Given the description of an element on the screen output the (x, y) to click on. 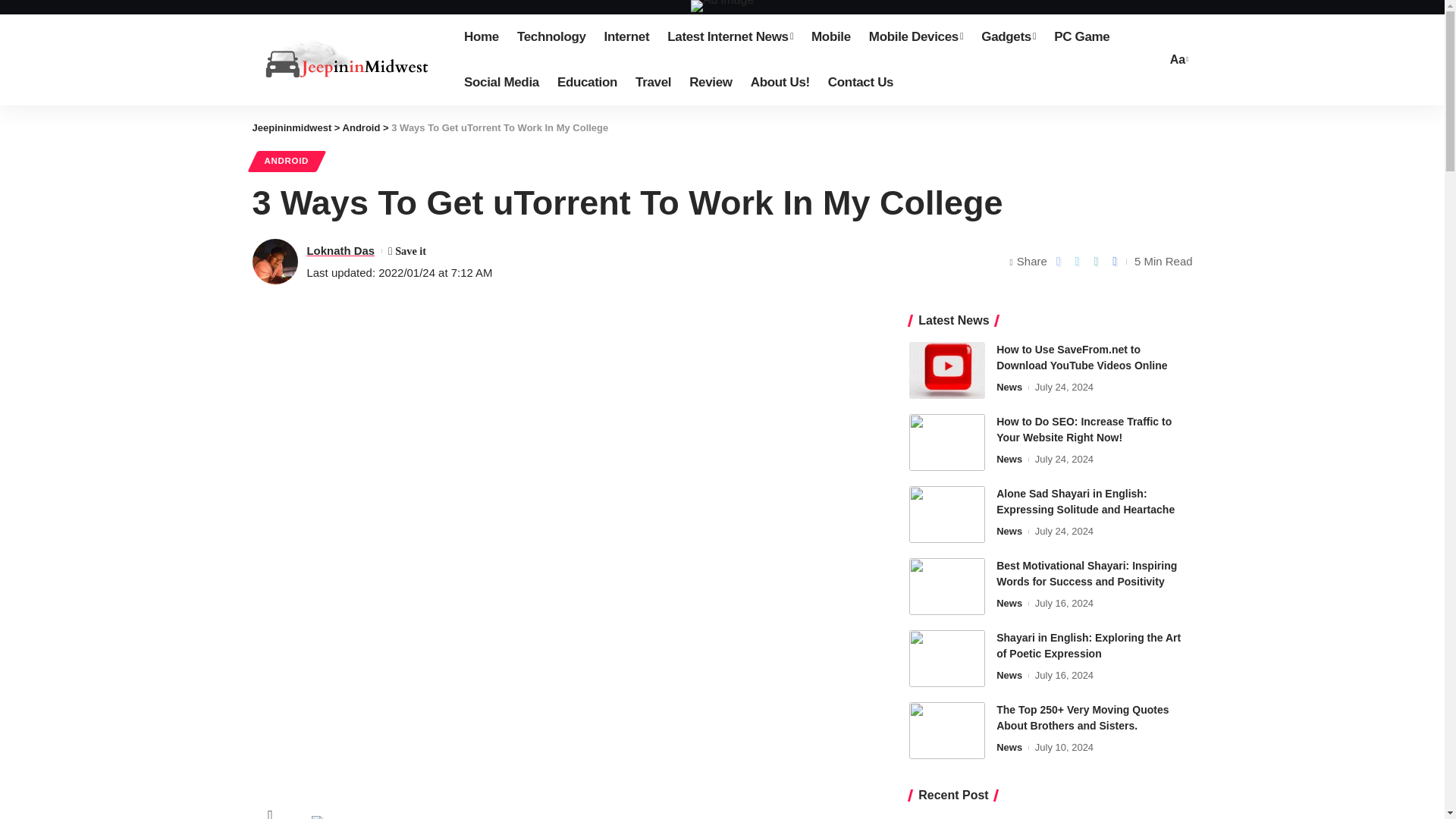
Internet (627, 36)
Social Media (501, 82)
Mobile Devices (916, 36)
Shayari in English: Exploring the Art of Poetic Expression (946, 658)
Technology (551, 36)
Jeepininmidwest (345, 59)
Contact Us (860, 82)
Go to the Android Category archives. (361, 127)
How to Do SEO: Increase Traffic to Your Website Right Now! (946, 442)
How to Use SaveFrom.net to Download YouTube Videos Online (946, 370)
Latest Internet News (730, 36)
Go to Jeepininmidwest. (291, 127)
Travel (652, 82)
